Given the description of an element on the screen output the (x, y) to click on. 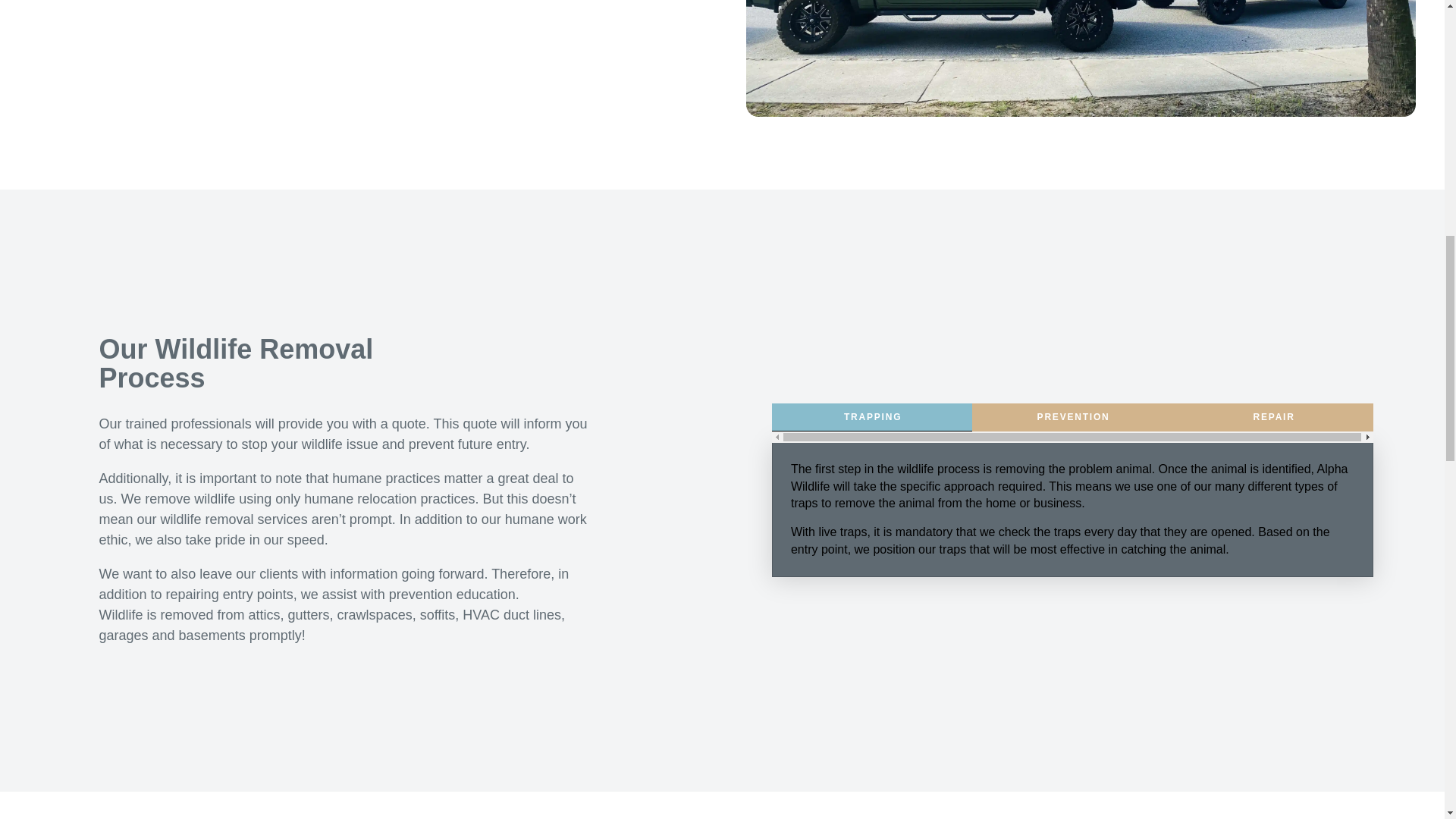
REPAIR (1273, 417)
PREVENTION (1072, 417)
TRAPPING (871, 417)
fullsizerender scaled (1080, 58)
